Given the description of an element on the screen output the (x, y) to click on. 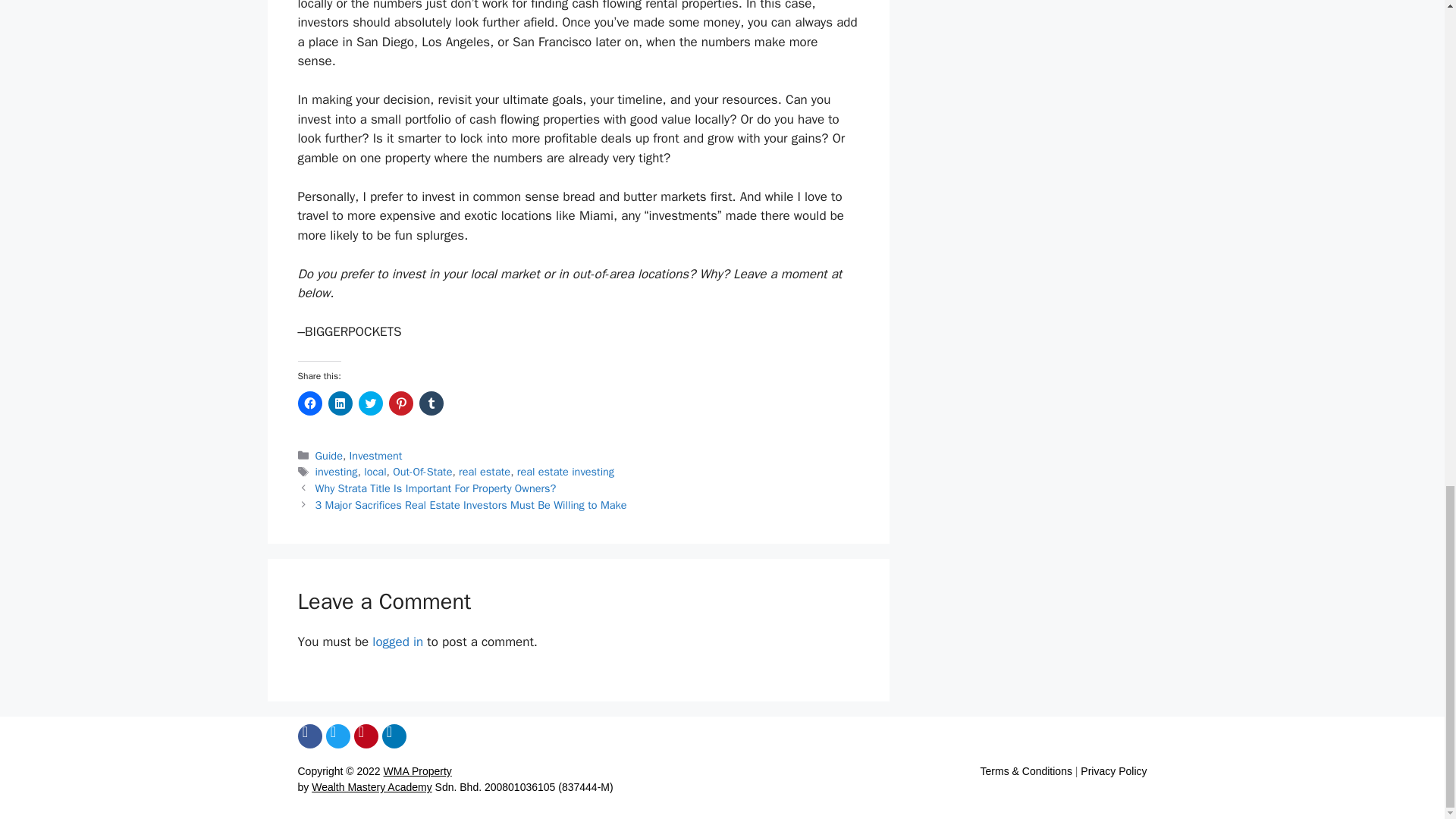
logged in (397, 641)
Click to share on LinkedIn (339, 403)
local (374, 471)
Why Strata Title Is Important For Property Owners? (435, 488)
real estate (484, 471)
real estate investing (565, 471)
Click to share on Pinterest (400, 403)
Investment (376, 455)
Out-Of-State (422, 471)
Click to share on Facebook (309, 403)
Guide (328, 455)
Click to share on Twitter (369, 403)
Click to share on Tumblr (430, 403)
investing (336, 471)
